Given the description of an element on the screen output the (x, y) to click on. 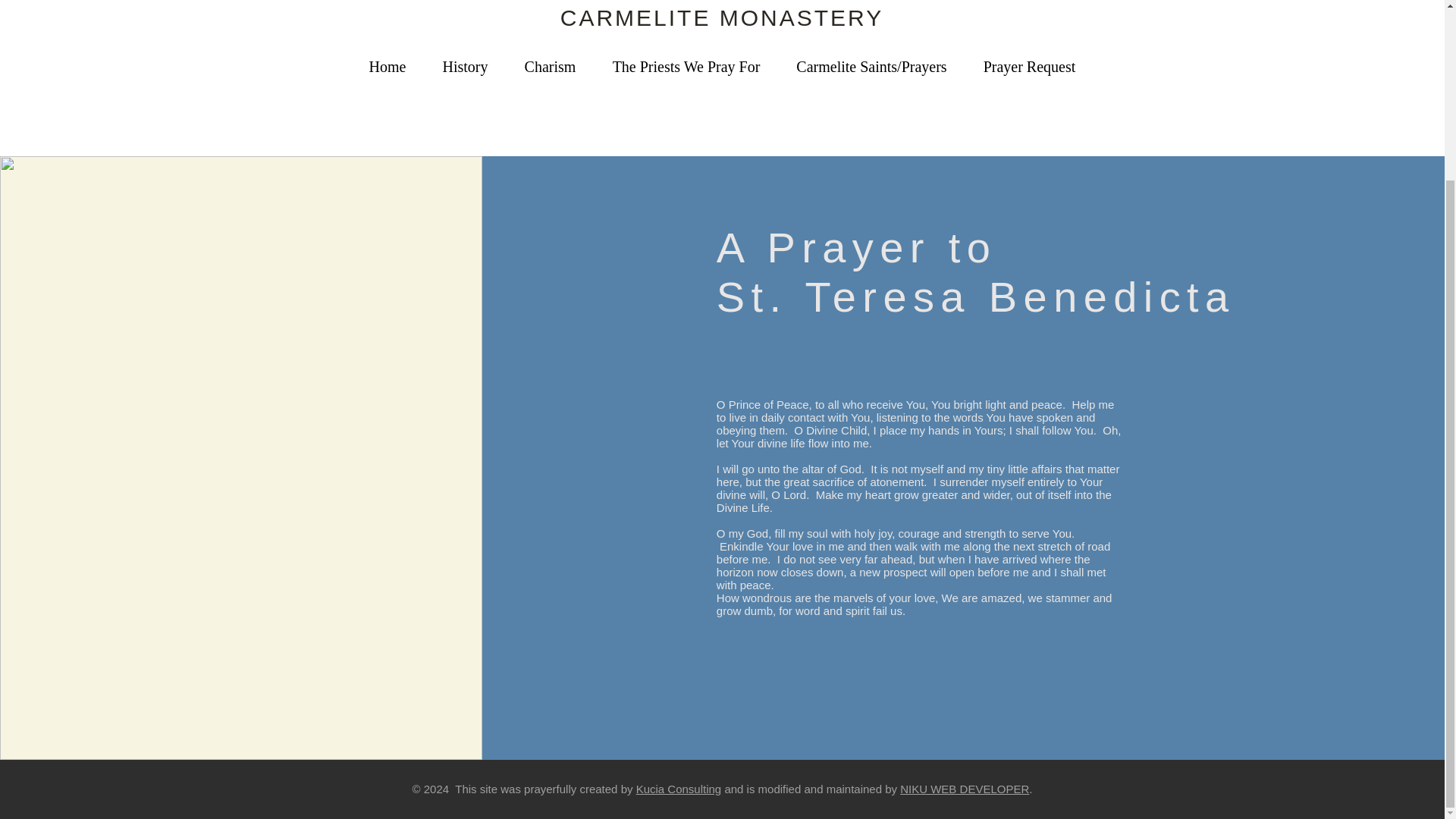
NIKU WEB DEVELOPER (964, 788)
Charism (550, 66)
OUR LADY OF CONFIDENCE (720, 2)
Prayer Request (1028, 66)
Kucia Consulting (679, 788)
Home (386, 66)
The Priests We Pray For (686, 66)
History (465, 66)
